Given the description of an element on the screen output the (x, y) to click on. 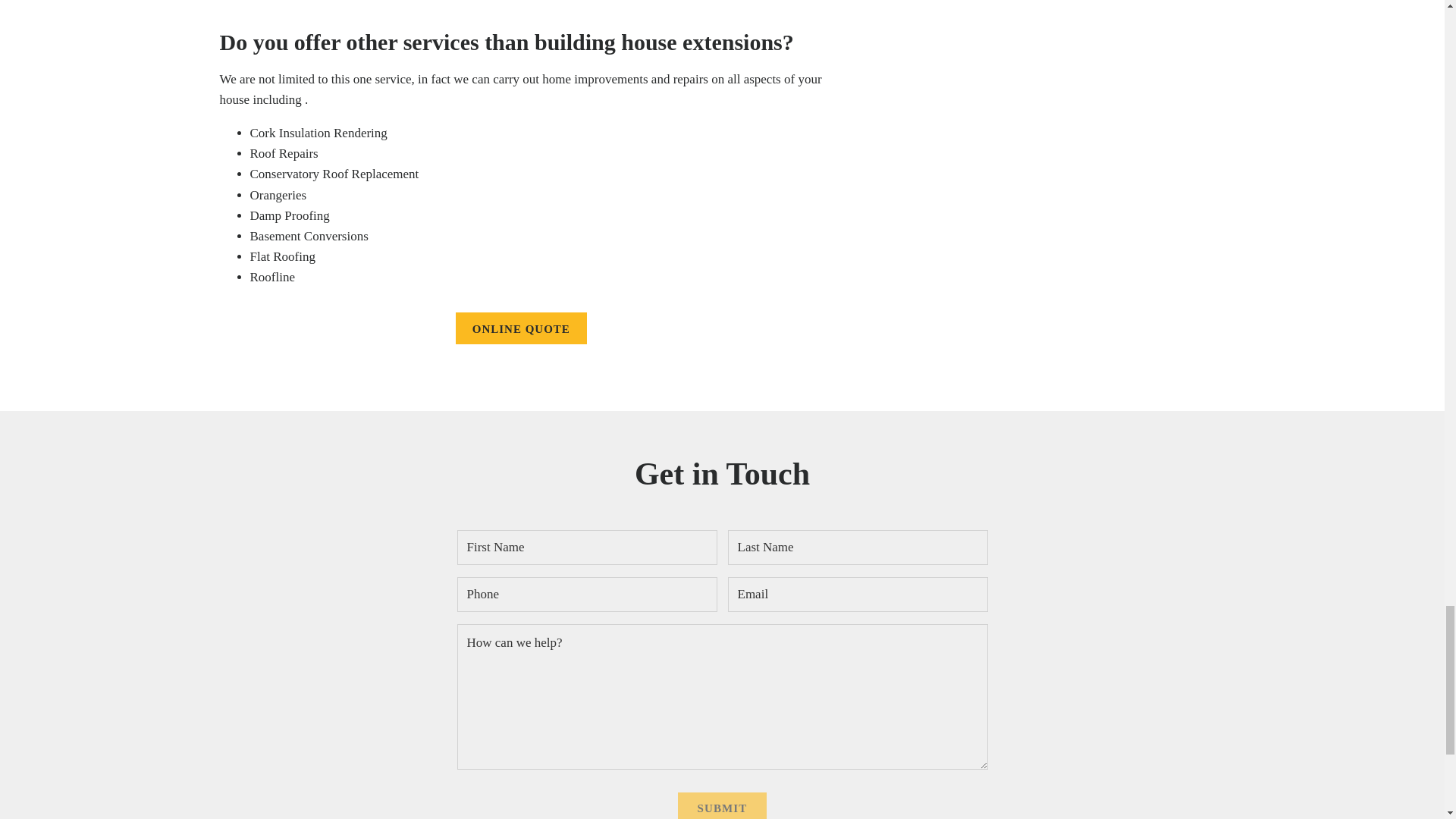
Submit (722, 805)
ONLINE QUOTE (520, 327)
